Given the description of an element on the screen output the (x, y) to click on. 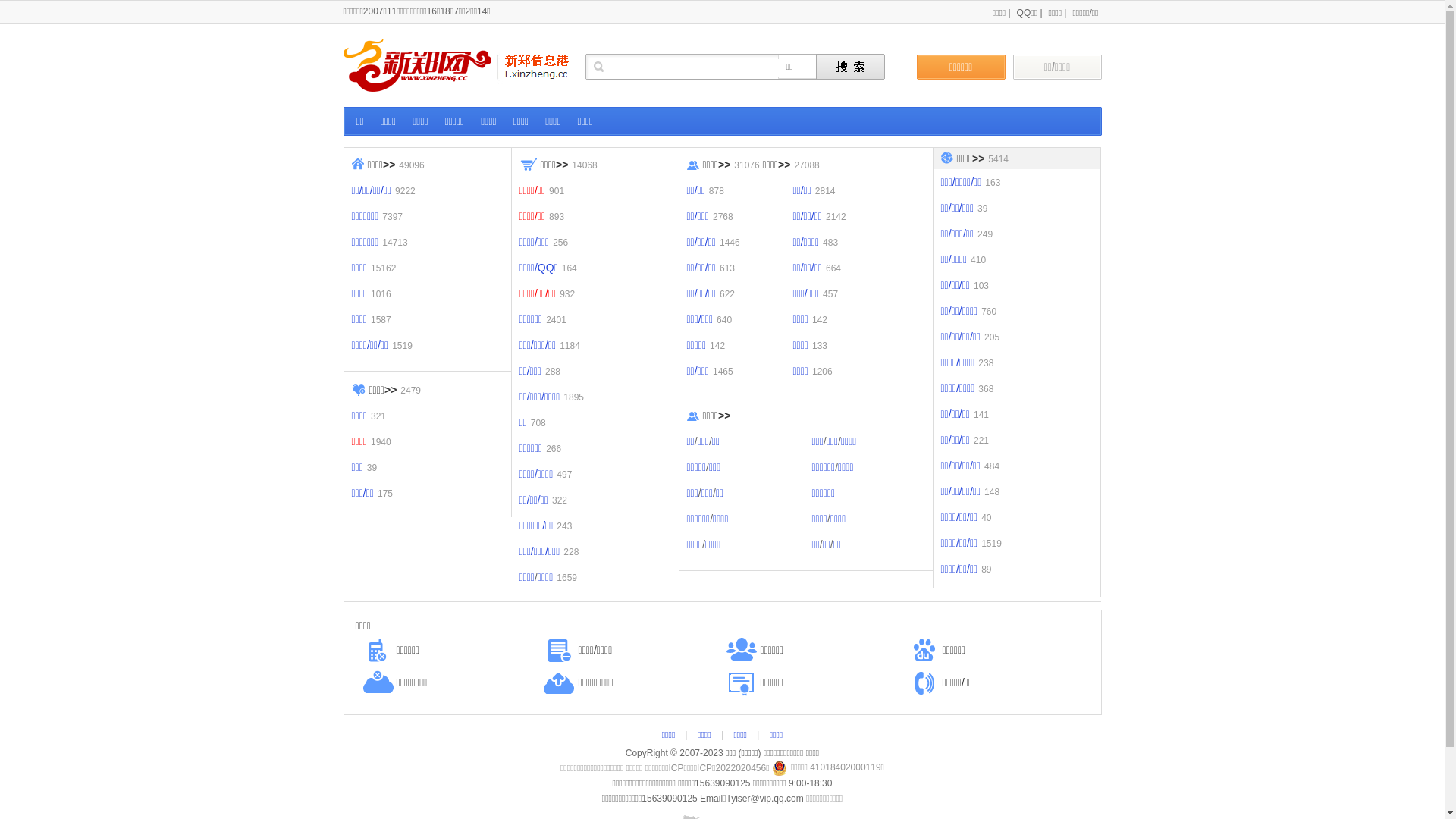
  Element type: text (849, 66)
